Given the description of an element on the screen output the (x, y) to click on. 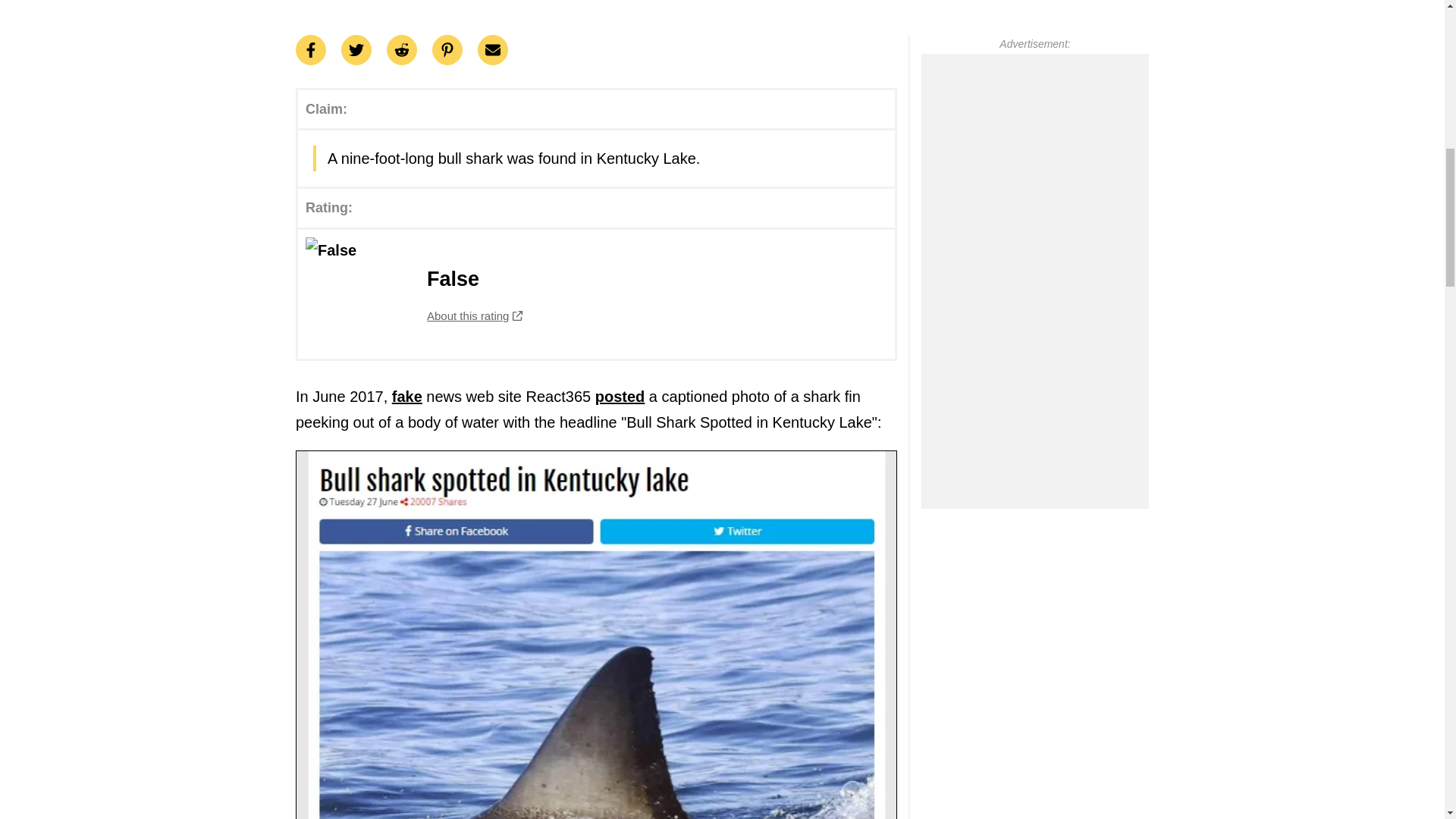
fake (595, 294)
